Given the description of an element on the screen output the (x, y) to click on. 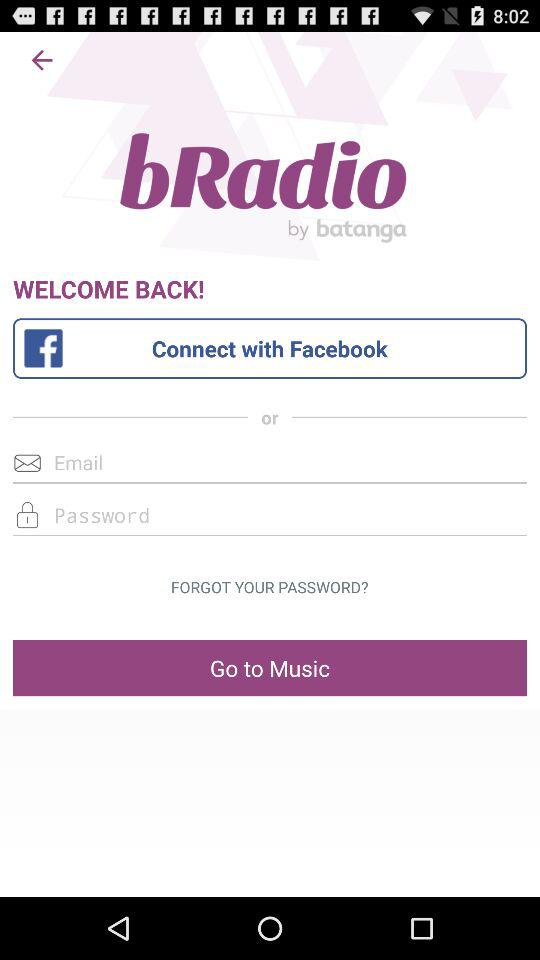
launch icon above go to music icon (269, 587)
